Given the description of an element on the screen output the (x, y) to click on. 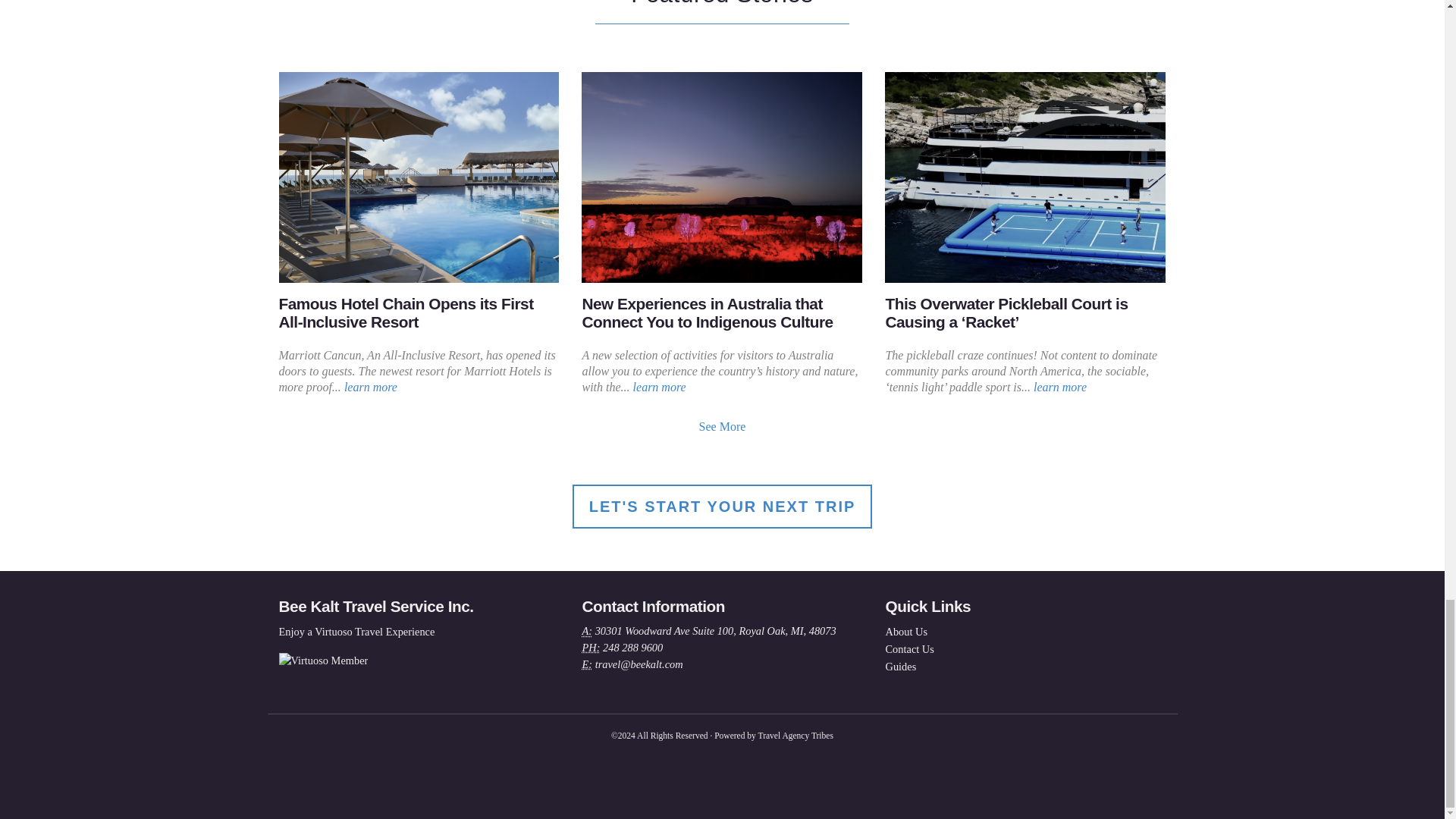
learn more (370, 386)
learn more (1059, 386)
Contact Us (909, 648)
See More (721, 426)
learn more (659, 386)
Famous Hotel Chain Opens its First All-Inclusive Resort (406, 312)
LET'S START YOUR NEXT TRIP (722, 506)
248 288 9600 (632, 647)
Phone (589, 647)
